Given the description of an element on the screen output the (x, y) to click on. 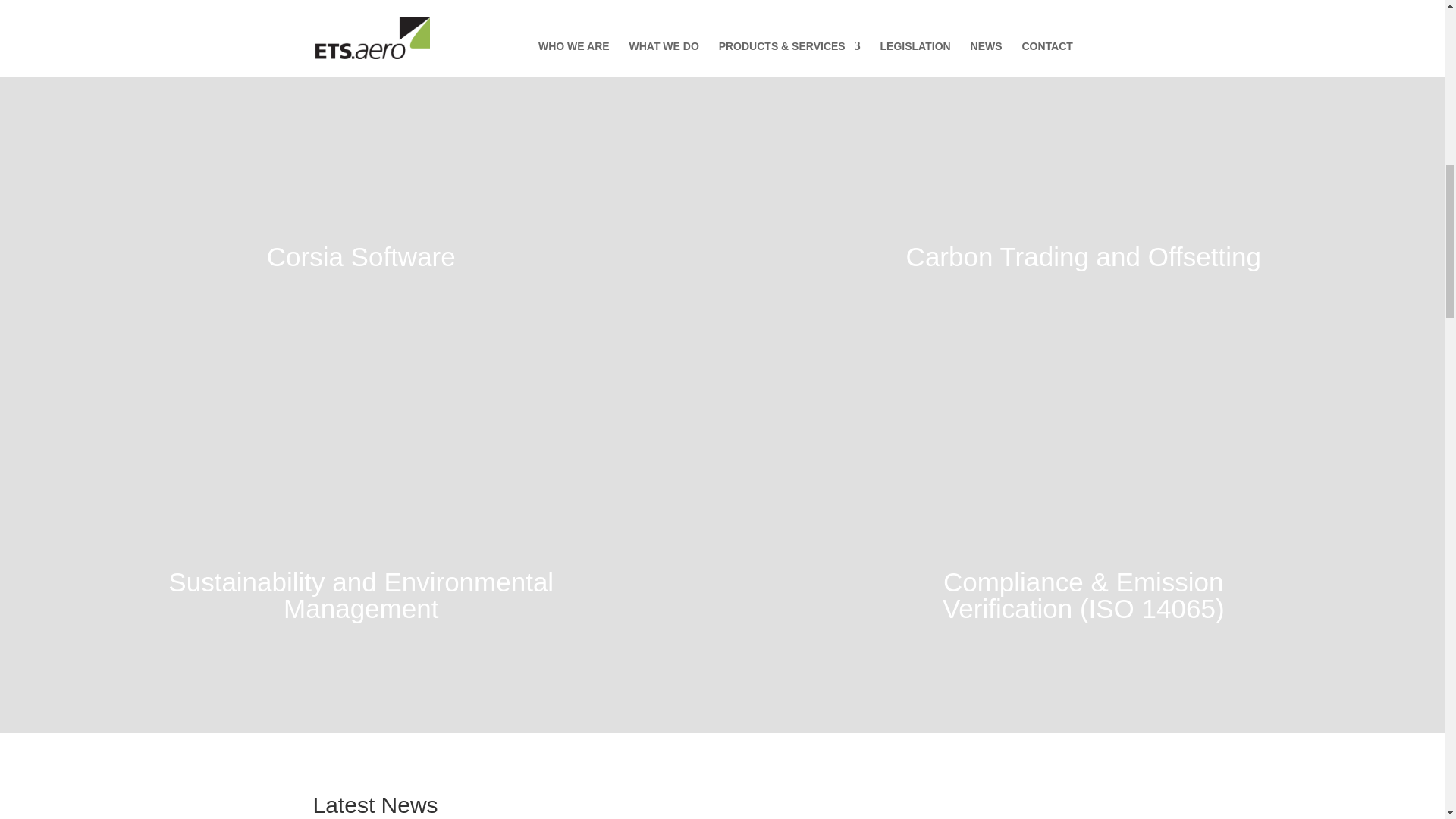
Carbon Trading and Offsetting (1082, 256)
Sustainability and Environmental Management (360, 595)
Corsia Software (360, 256)
